Given the description of an element on the screen output the (x, y) to click on. 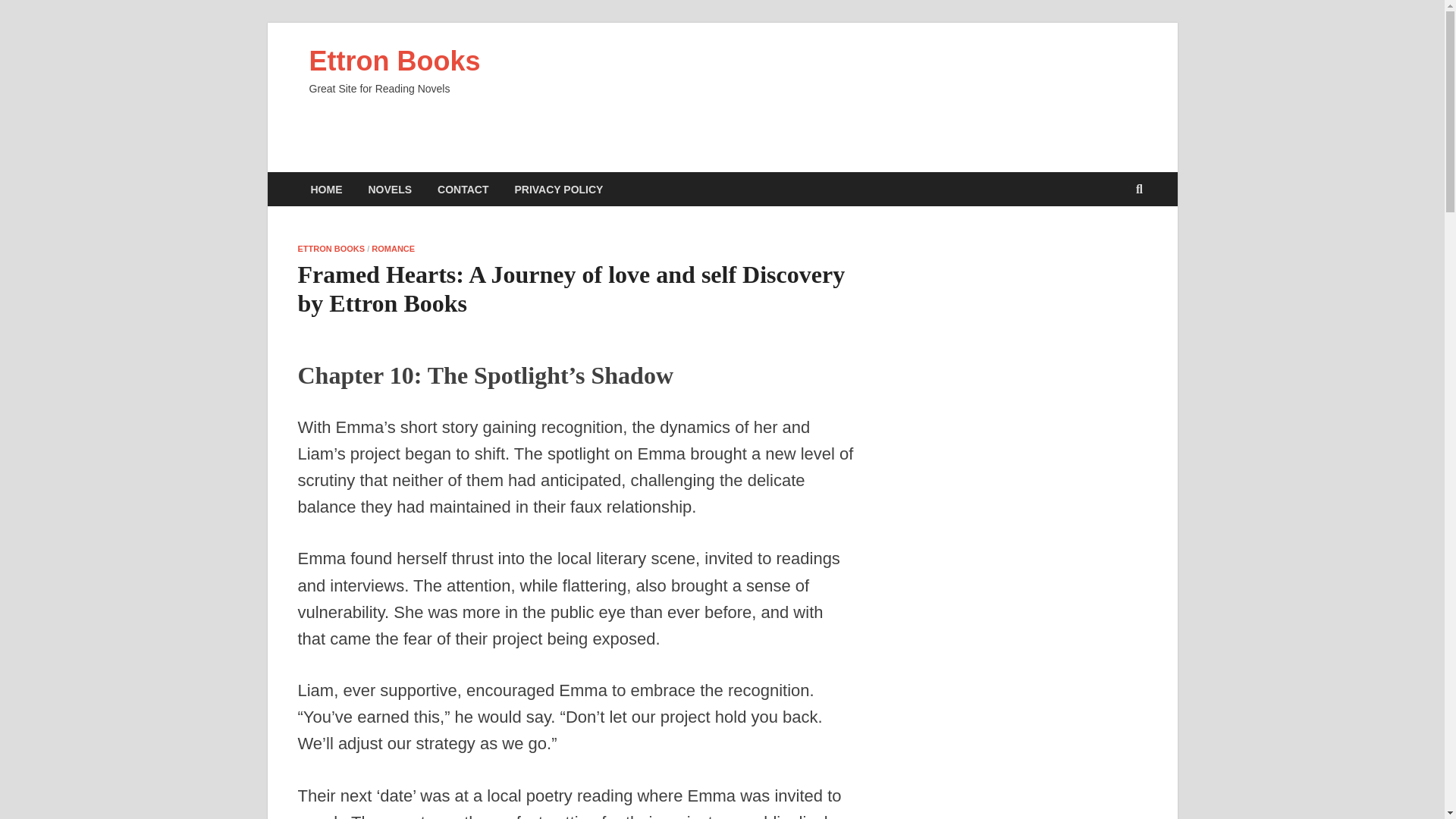
NOVELS (390, 188)
Ettron Books (394, 60)
ROMANCE (392, 248)
PRIVACY POLICY (557, 188)
CONTACT (462, 188)
HOME (326, 188)
ETTRON BOOKS (331, 248)
